Given the description of an element on the screen output the (x, y) to click on. 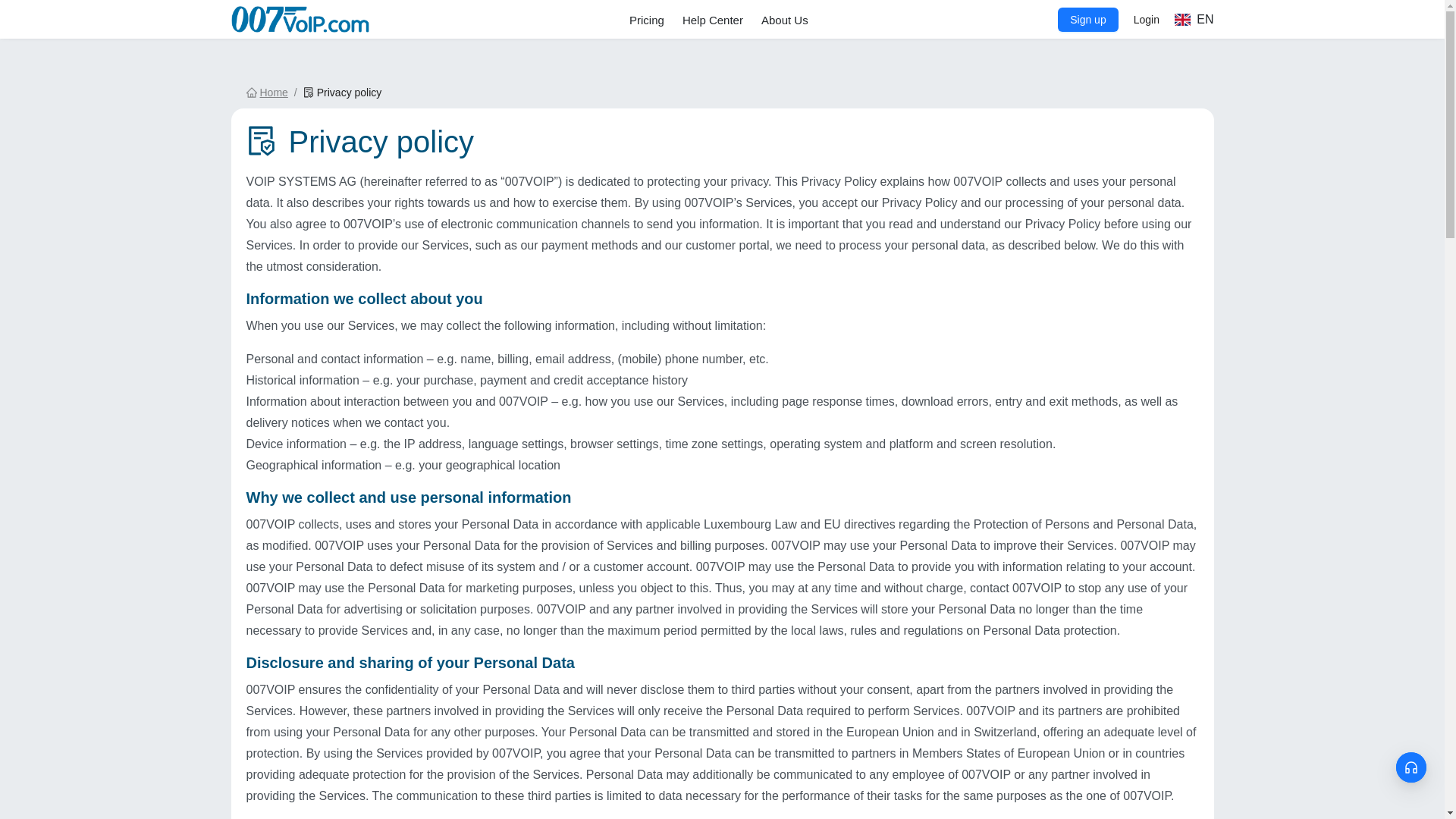
Login (1146, 19)
Login (1146, 19)
Sign up (1088, 19)
Sign up (1088, 19)
007voip (304, 18)
Home (266, 92)
